Given the description of an element on the screen output the (x, y) to click on. 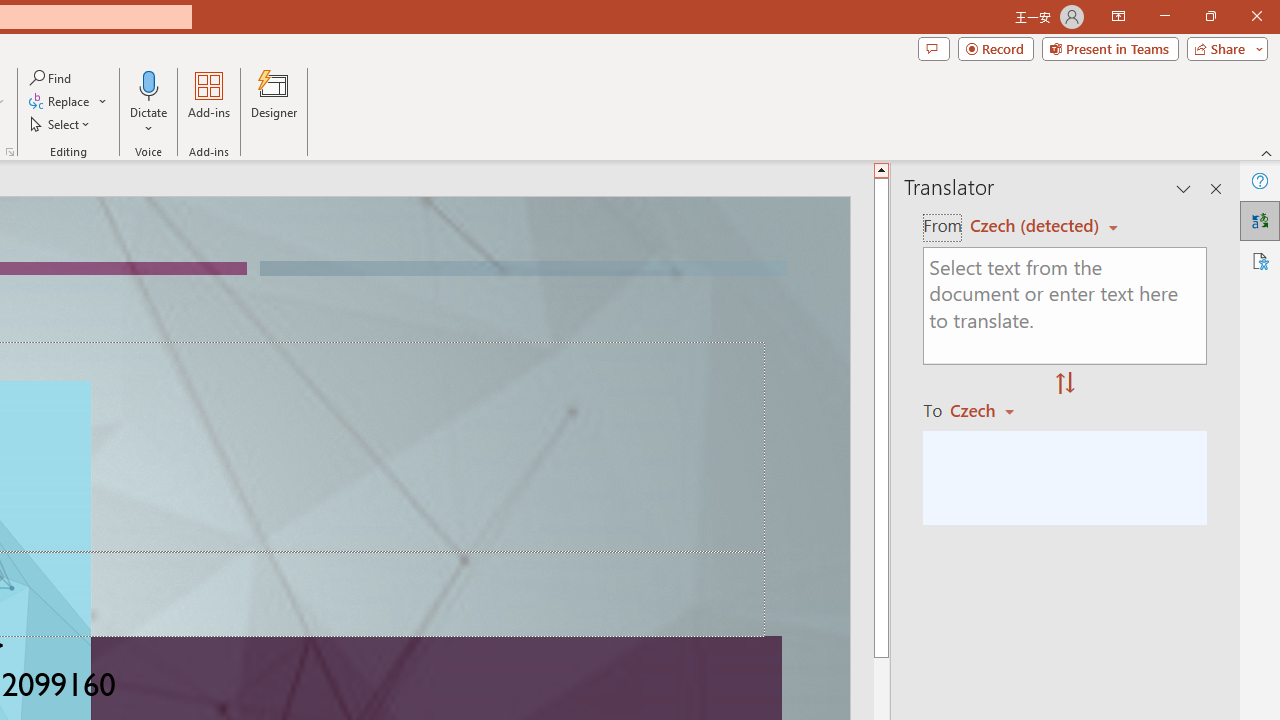
Czech (991, 409)
Czech (detected) (1037, 225)
